Given the description of an element on the screen output the (x, y) to click on. 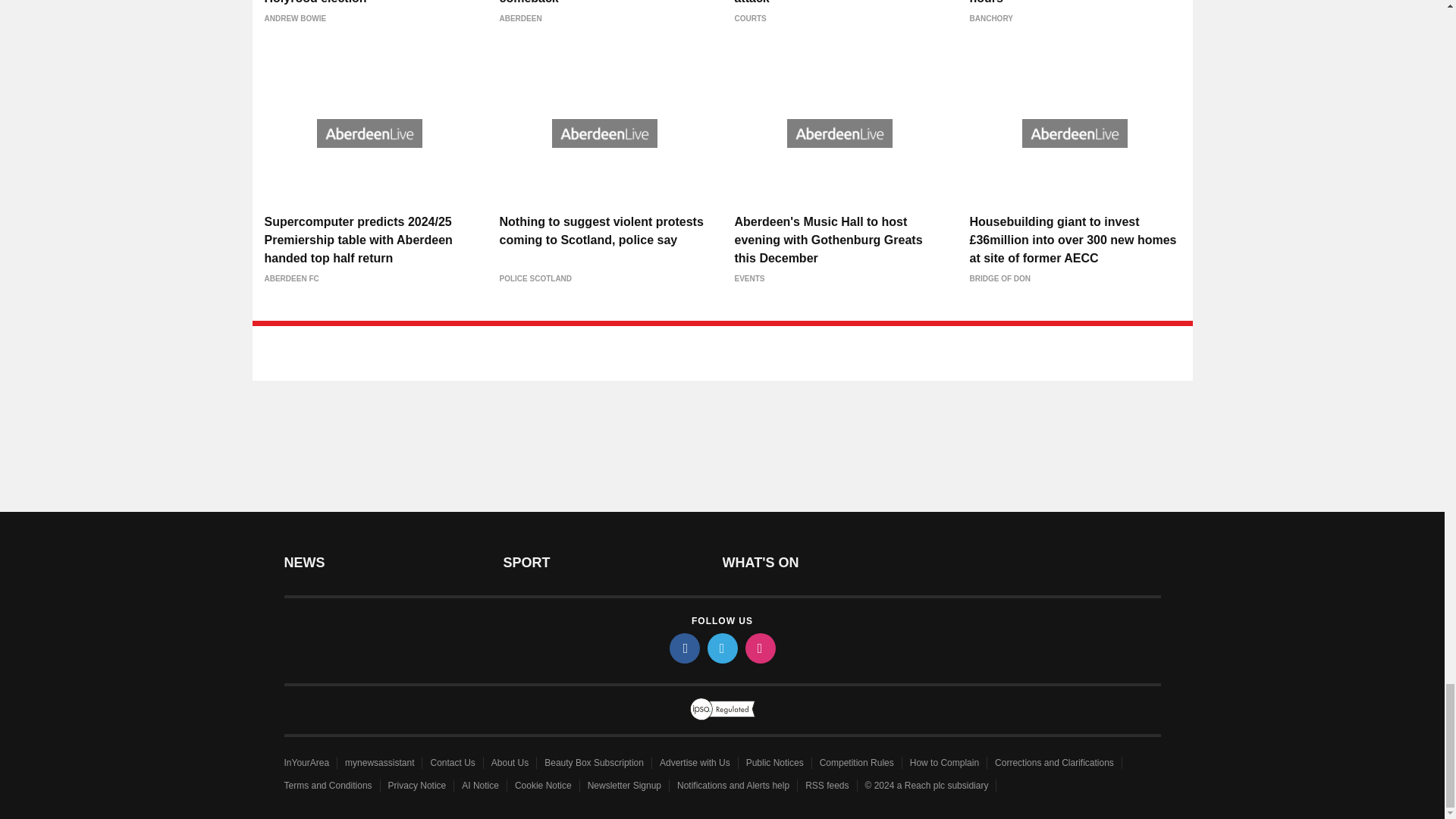
instagram (759, 648)
facebook (683, 648)
twitter (721, 648)
